Given the description of an element on the screen output the (x, y) to click on. 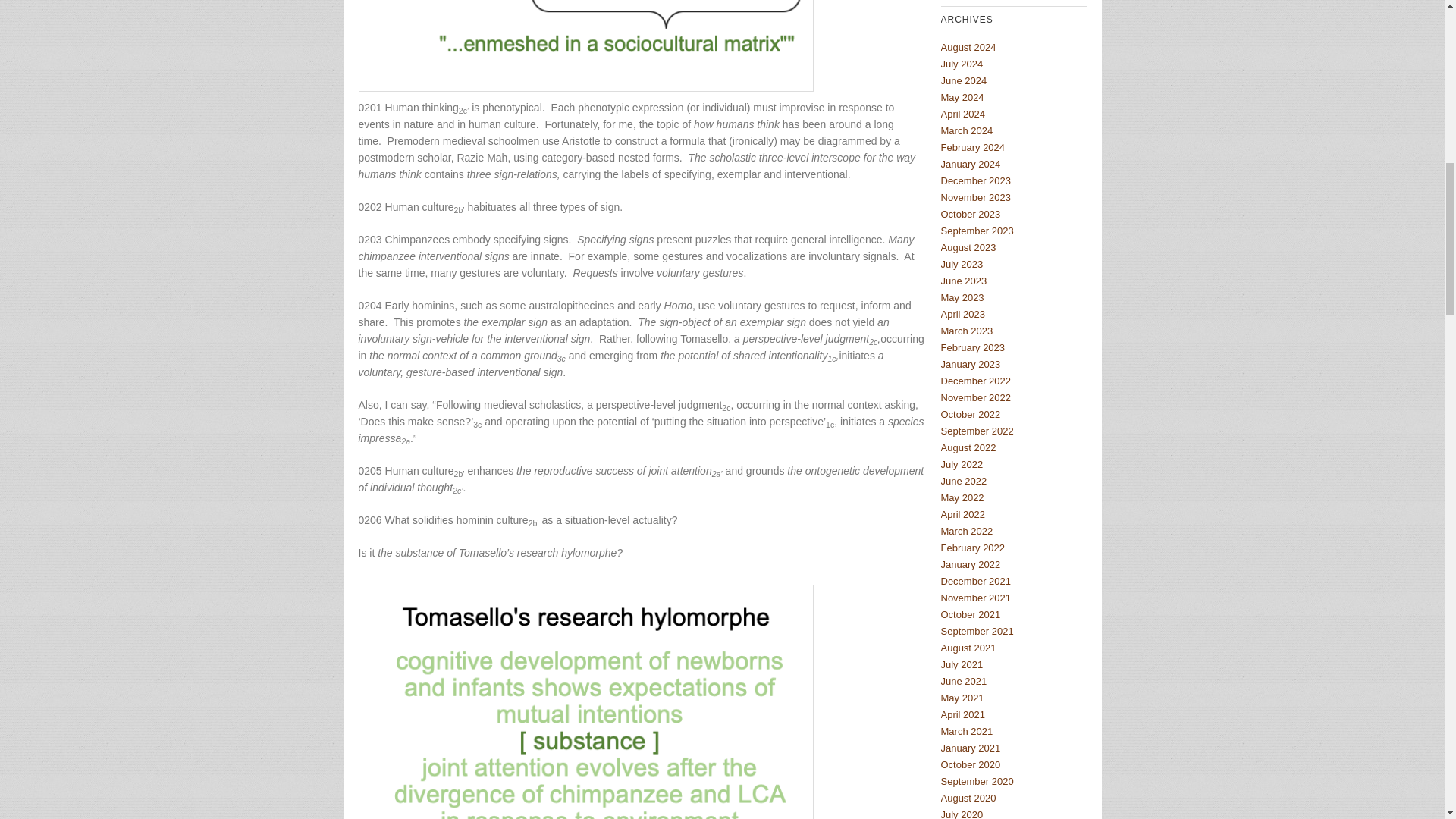
October 2022 (970, 414)
October 2023 (970, 214)
November 2023 (975, 197)
January 2023 (970, 364)
April 2024 (962, 113)
June 2023 (963, 280)
March 2023 (966, 330)
September 2023 (976, 230)
January 2024 (970, 163)
May 2024 (962, 97)
